Given the description of an element on the screen output the (x, y) to click on. 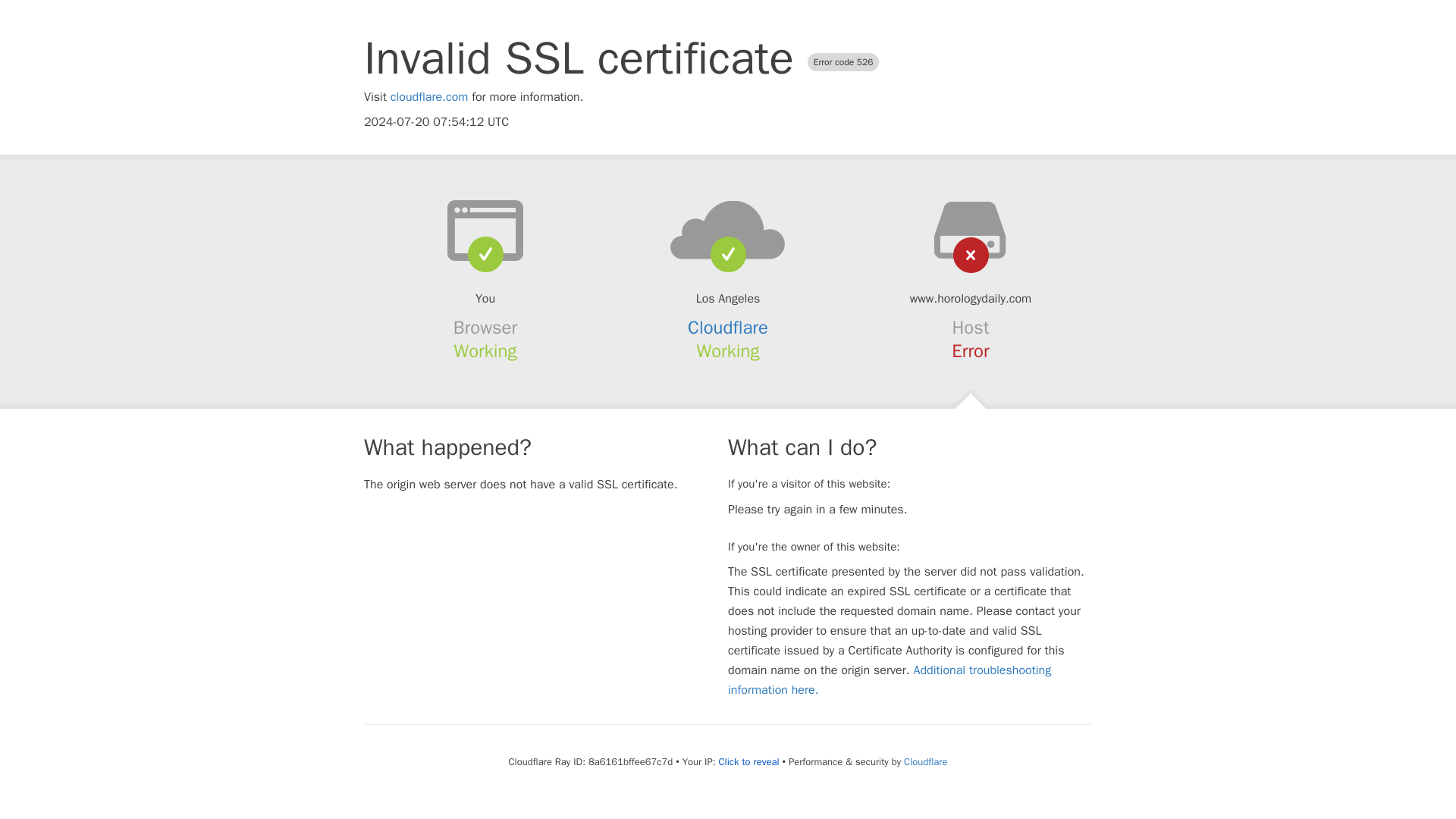
Cloudflare (925, 761)
Additional troubleshooting information here. (889, 679)
Cloudflare (727, 327)
cloudflare.com (429, 96)
Click to reveal (748, 762)
